Given the description of an element on the screen output the (x, y) to click on. 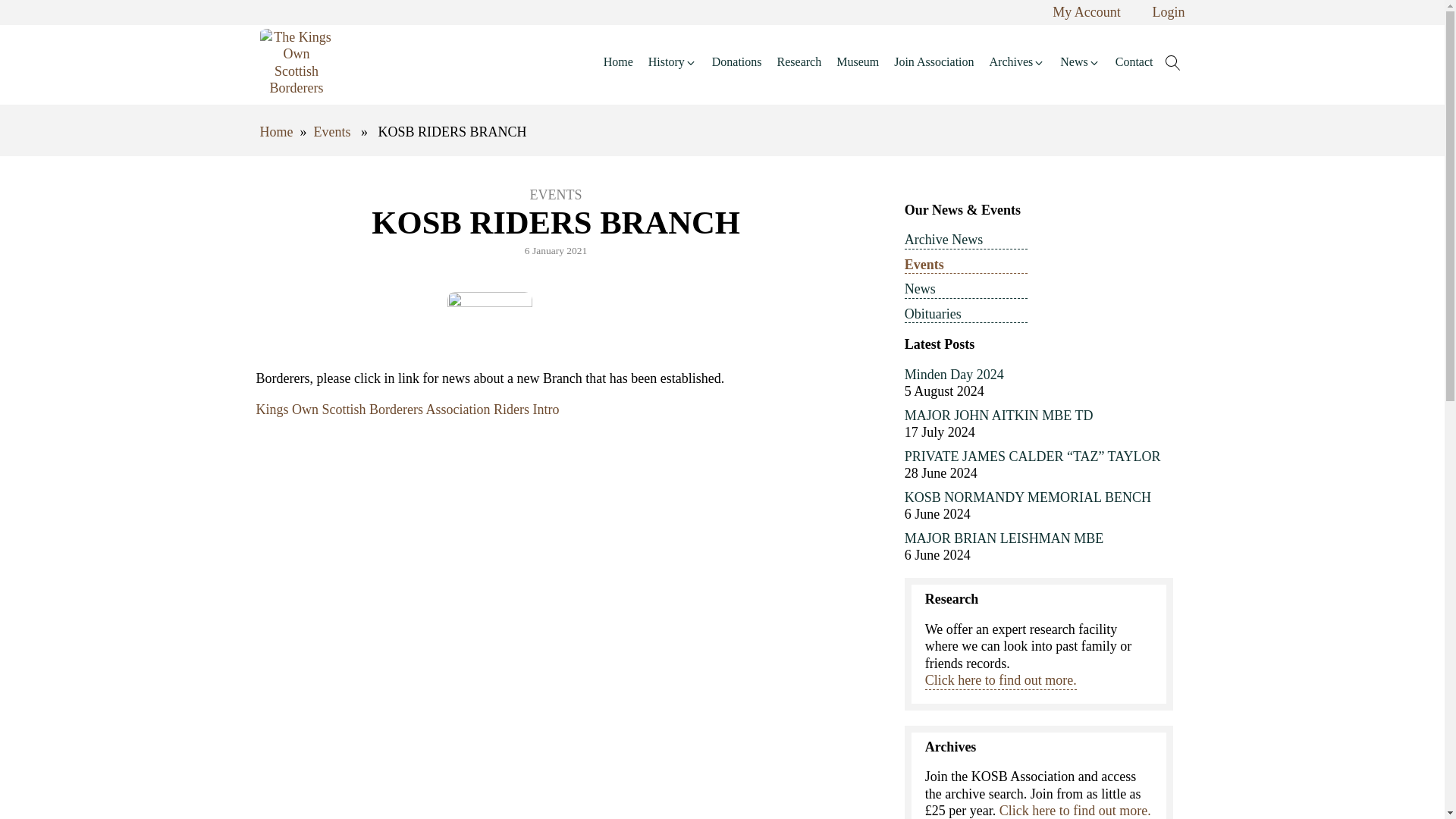
Donations (737, 62)
Search (24, 11)
Research (799, 62)
Contact (1134, 62)
Join Association (933, 62)
My Account (1086, 12)
Home (275, 131)
Archives (1016, 62)
Login (1169, 12)
Museum (857, 62)
